Given the description of an element on the screen output the (x, y) to click on. 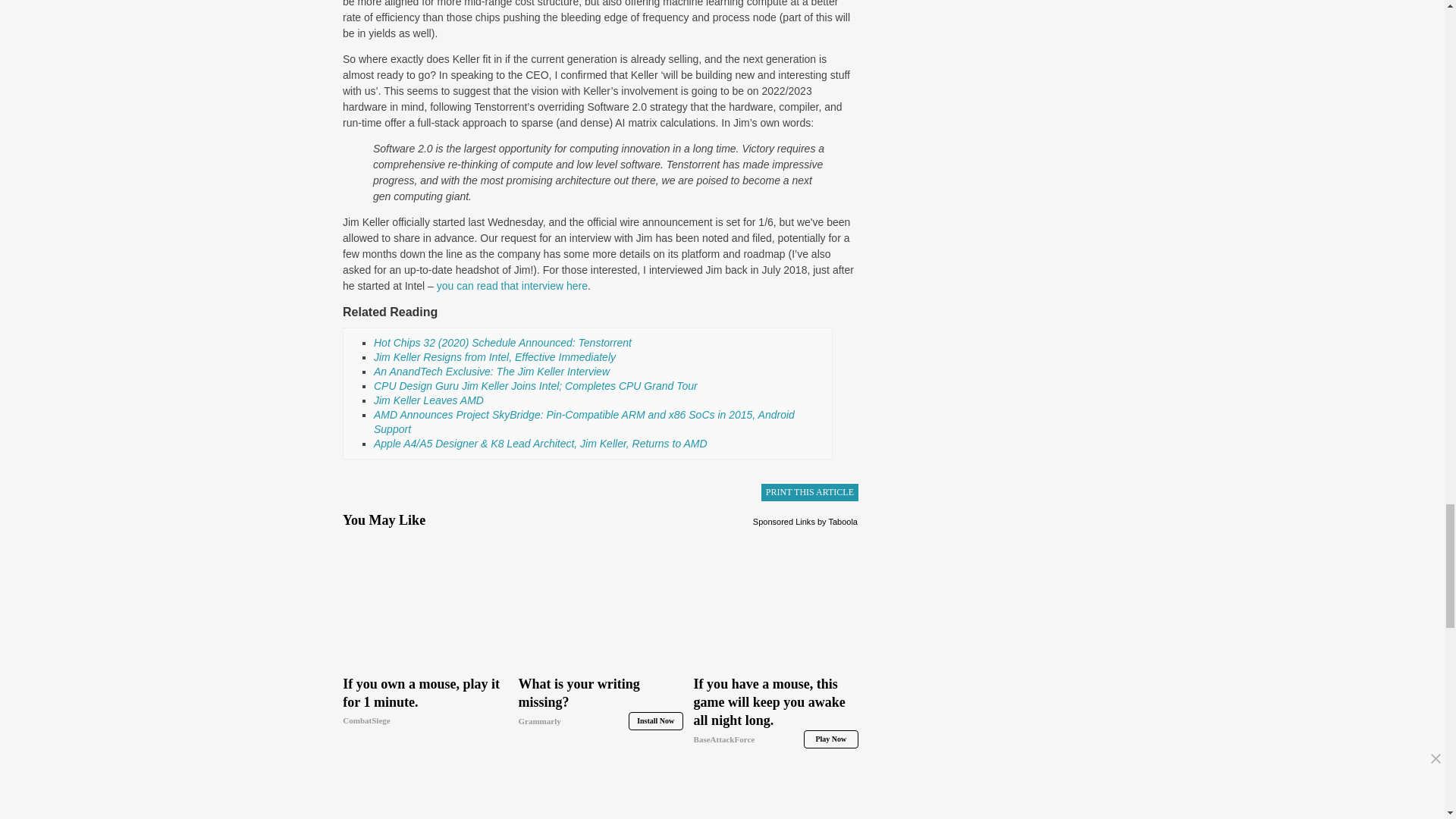
What is your writing missing? (600, 702)
If you own a mouse, play it for 1 minute. (424, 701)
